Given the description of an element on the screen output the (x, y) to click on. 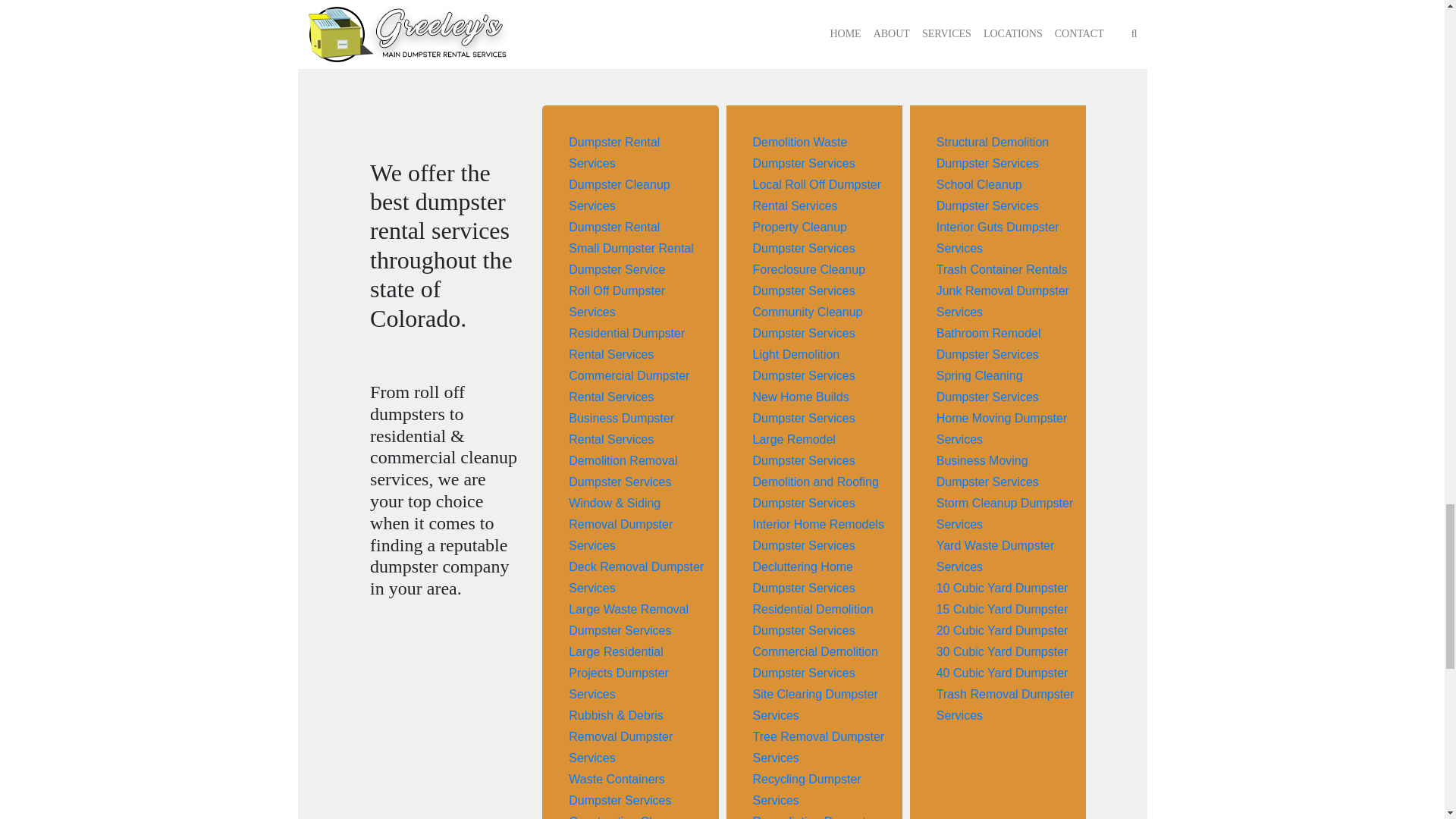
Small Dumpster Rental (631, 247)
Large Remodel Dumpster Services (803, 449)
Waste Containers Dumpster Services (620, 789)
Property Cleanup Dumpster Services (803, 237)
Community Cleanup Dumpster Services (806, 322)
Demolition and Roofing Dumpster Services (814, 492)
Dumpster Rental Services (614, 152)
Construction Cleanup Dumpster Services (627, 816)
Business Dumpster Rental Services (621, 428)
Roll Off Dumpster Services (617, 301)
New Home Builds Dumpster Services (803, 407)
Demolition Waste Dumpster Services (803, 152)
Dumpster Service (617, 269)
Commercial Dumpster Rental Services (628, 386)
Local Roll Off Dumpster Rental Services (816, 195)
